Given the description of an element on the screen output the (x, y) to click on. 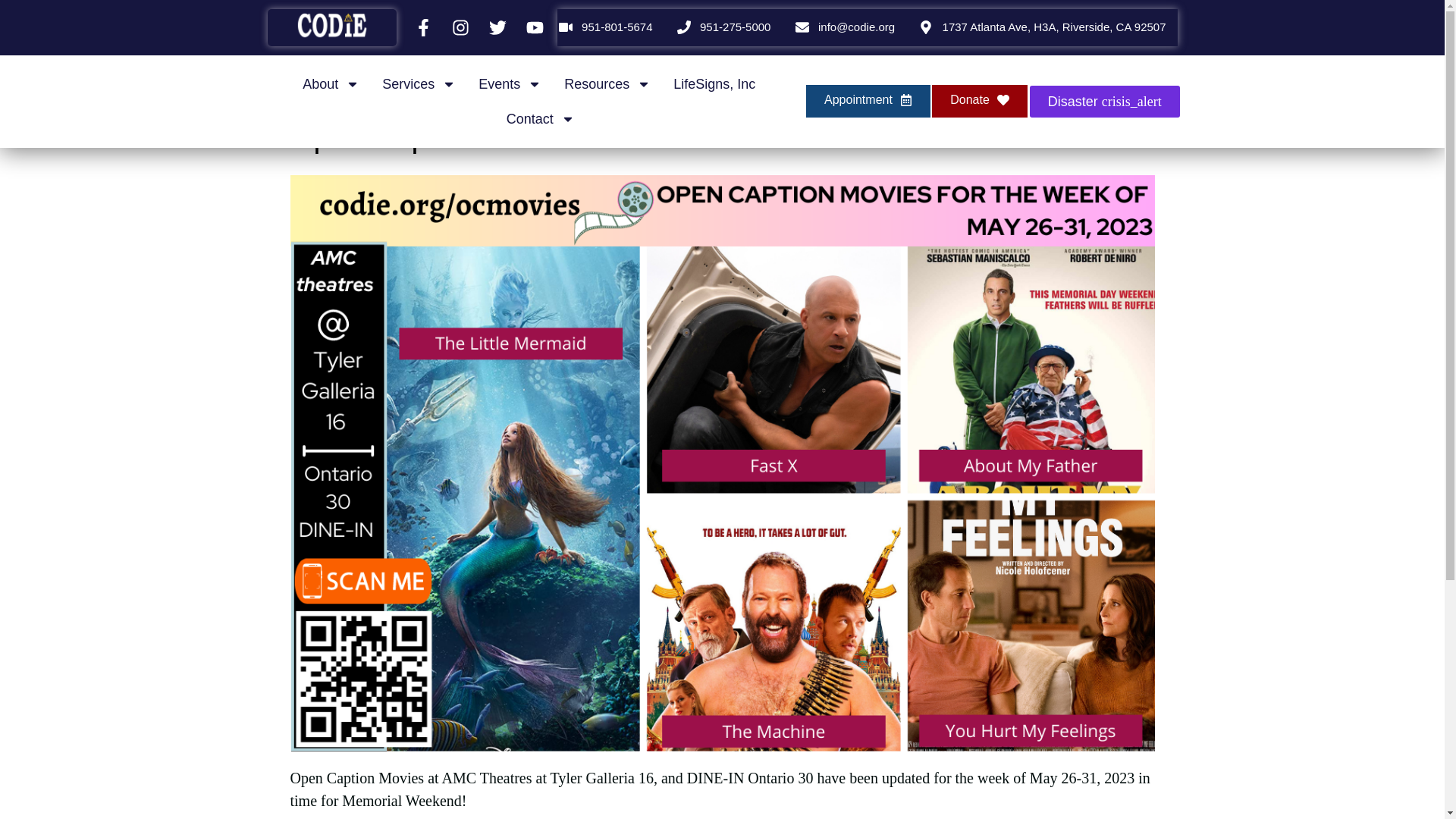
Events (510, 83)
LifeSigns, Inc (713, 83)
Resources (607, 83)
Contact (540, 118)
Services (418, 83)
About (330, 83)
